Given the description of an element on the screen output the (x, y) to click on. 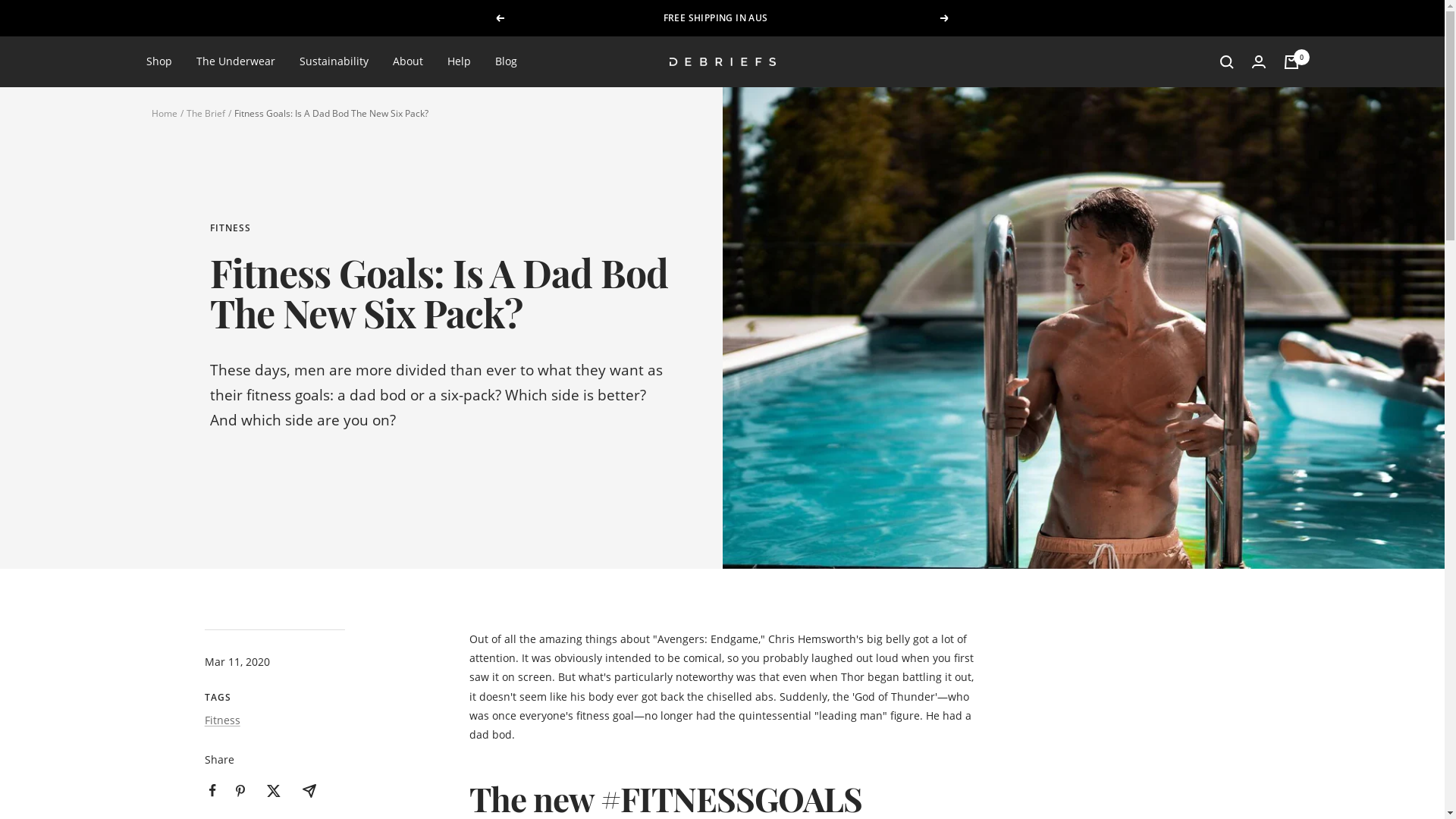
Fitness Element type: text (222, 719)
Sustainability Element type: text (332, 61)
Home Element type: text (164, 112)
The Underwear Element type: text (234, 61)
The Brief Element type: text (205, 112)
Previous Element type: text (499, 17)
About Element type: text (407, 61)
FITNESS Element type: text (439, 228)
Help Element type: text (458, 61)
Blog Element type: text (505, 61)
Shop Element type: text (158, 61)
Next Element type: text (944, 17)
Debriefs Element type: text (721, 61)
0 Element type: text (1290, 62)
